Given the description of an element on the screen output the (x, y) to click on. 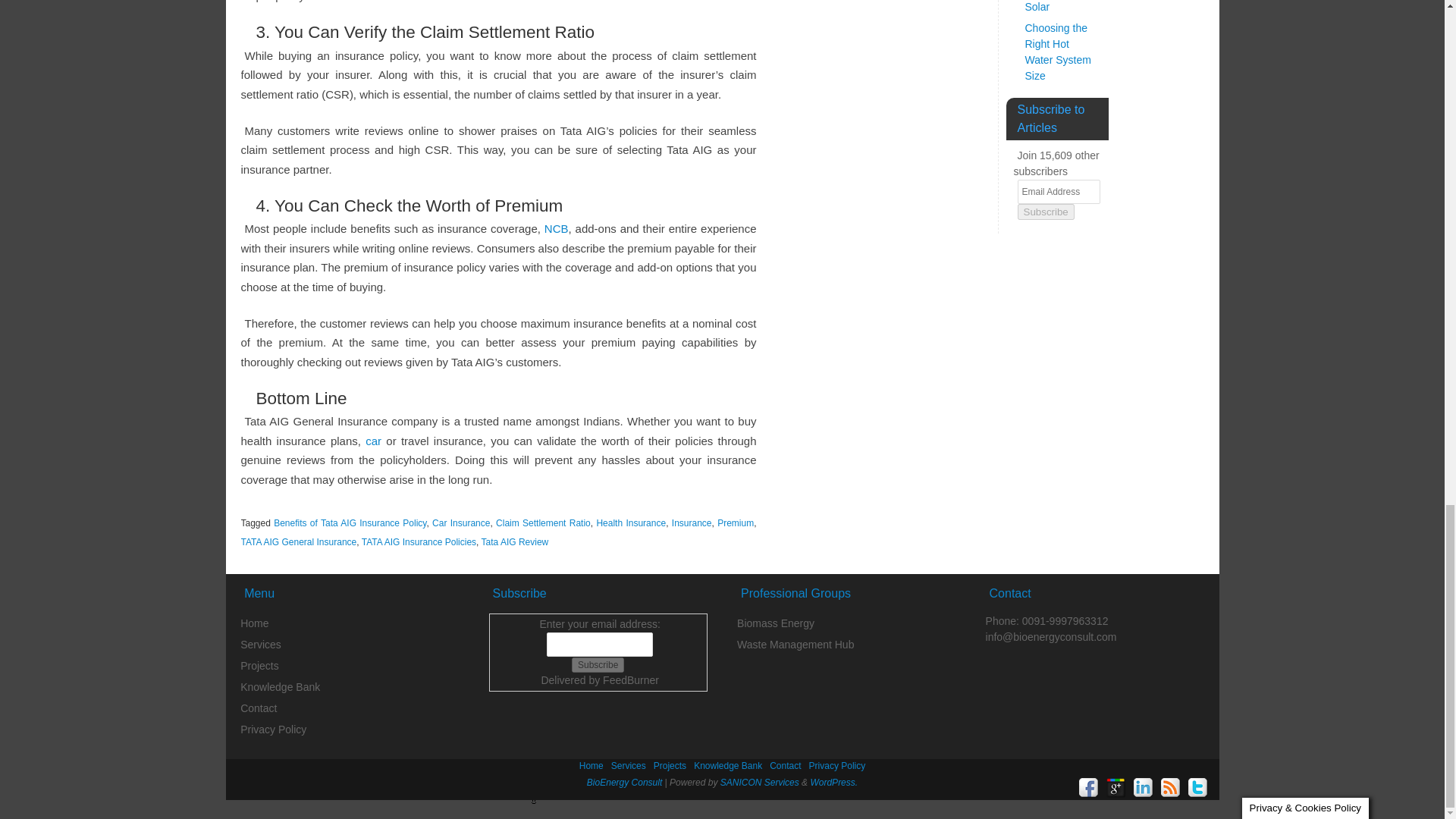
Health Insurance (630, 522)
TATA AIG General Insurance (298, 542)
Car Insurance (460, 522)
car (373, 440)
NCB (556, 228)
Insurance (691, 522)
Tata AIG Review (514, 542)
Benefits of Tata AIG Insurance Policy (349, 522)
TATA AIG Insurance Policies (418, 542)
Subscribe (598, 664)
Claim Settlement Ratio (543, 522)
Premium (735, 522)
